Given the description of an element on the screen output the (x, y) to click on. 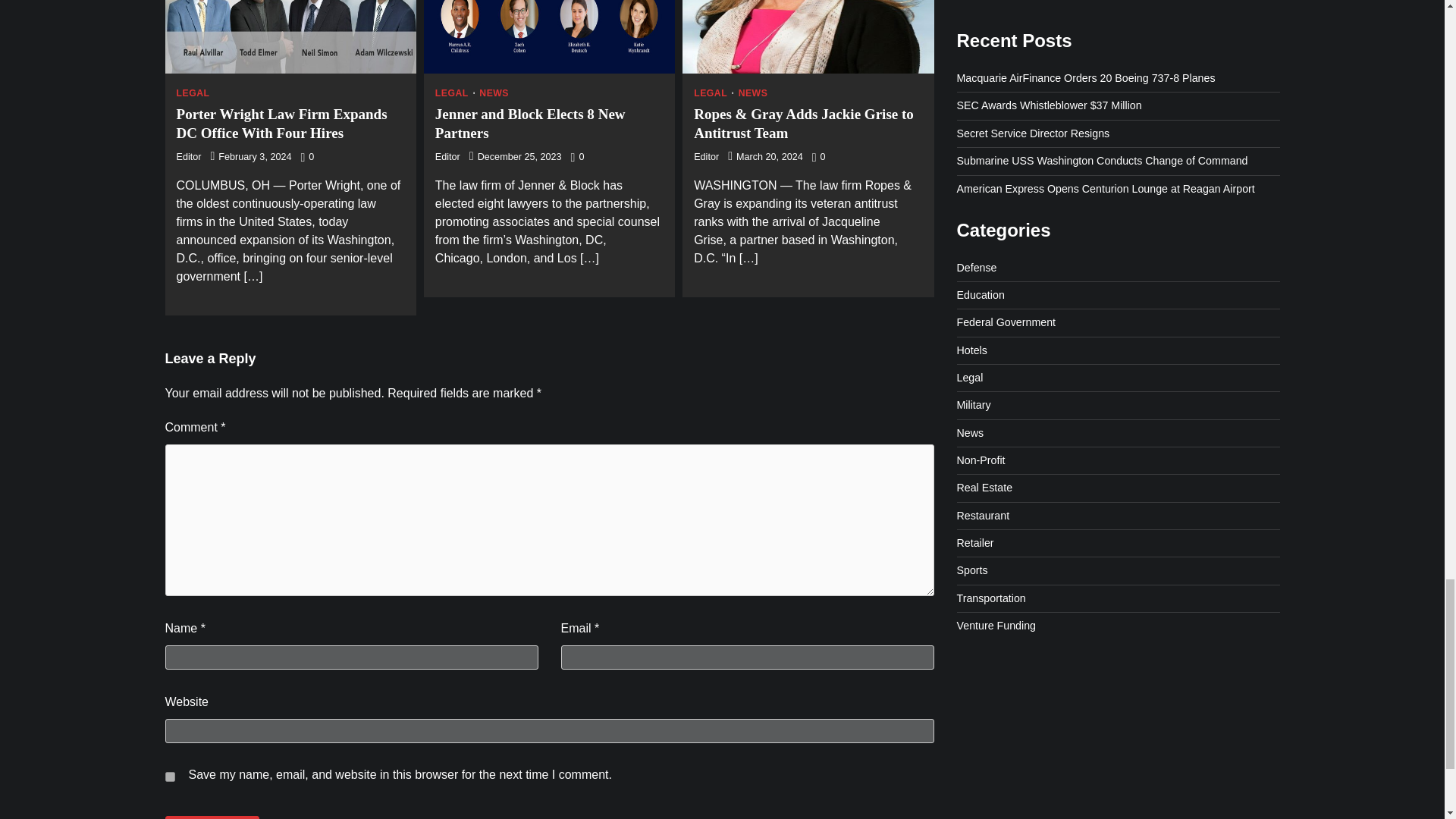
yes (169, 777)
Post Comment (212, 817)
